Given the description of an element on the screen output the (x, y) to click on. 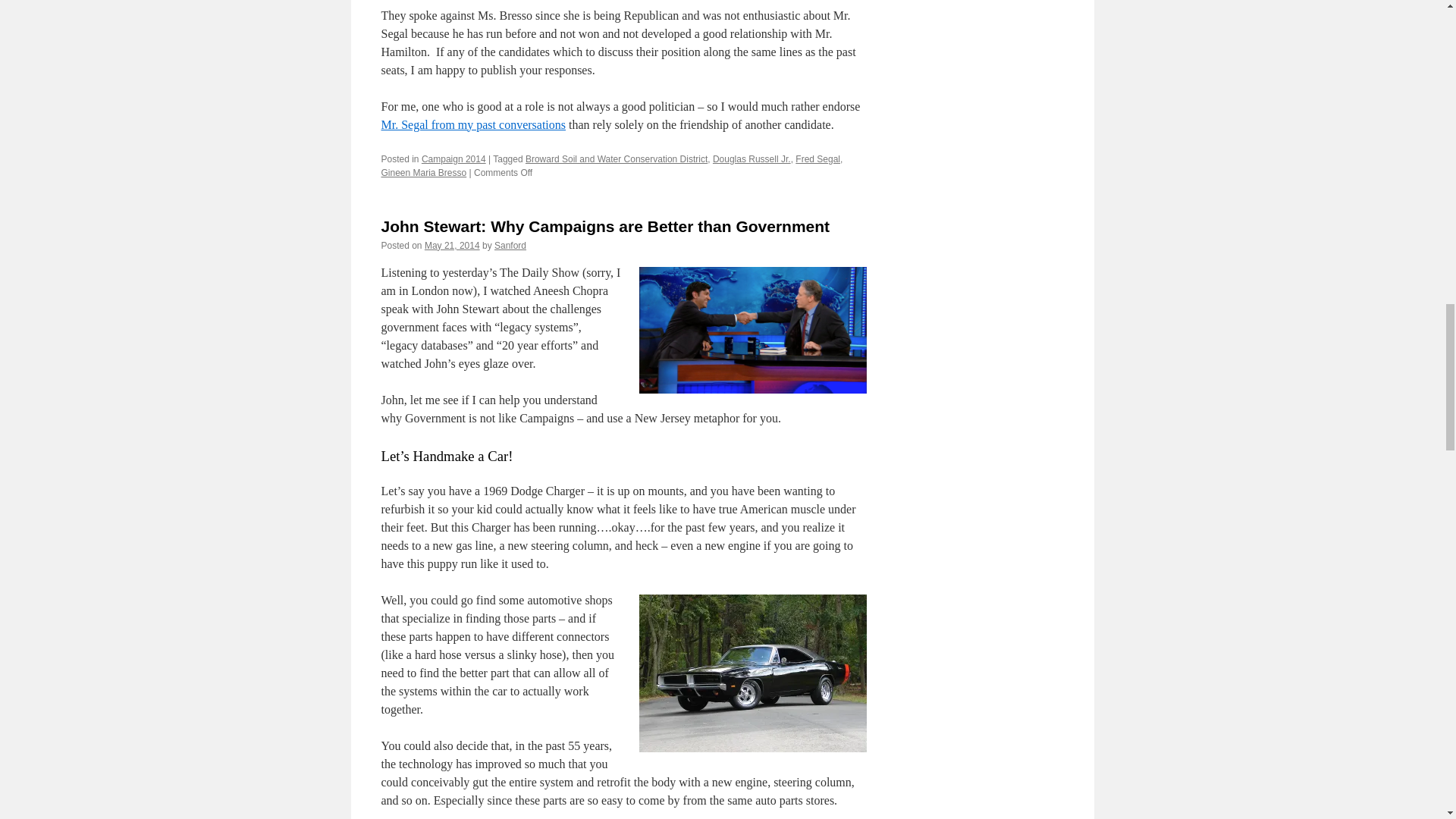
Mr. Segal from my past conversations (473, 124)
John Stewart: Why Campaigns are Better than Government (604, 226)
Sanford (510, 245)
Gineen Maria Bresso (422, 172)
Broward Soil and Water Conservation District (616, 158)
Douglas Russell Jr. (751, 158)
May 21, 2014 (452, 245)
Fred Segal (817, 158)
3:41 pm (452, 245)
View all posts by Sanford (510, 245)
